Given the description of an element on the screen output the (x, y) to click on. 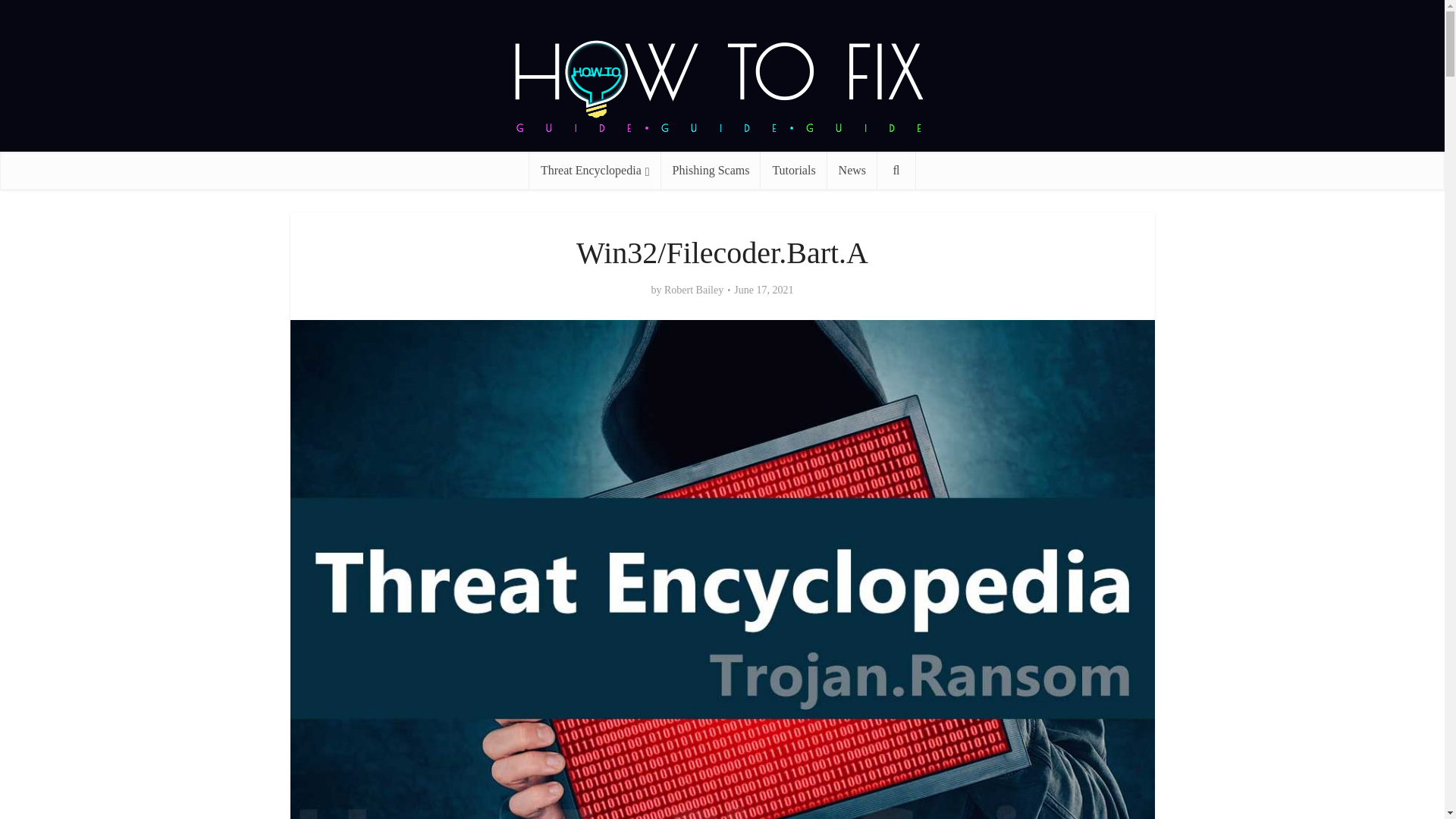
Tutorials (793, 170)
Phishing Scams (711, 170)
Threat Encyclopedia (595, 170)
Robert Bailey (693, 290)
News (852, 170)
